Given the description of an element on the screen output the (x, y) to click on. 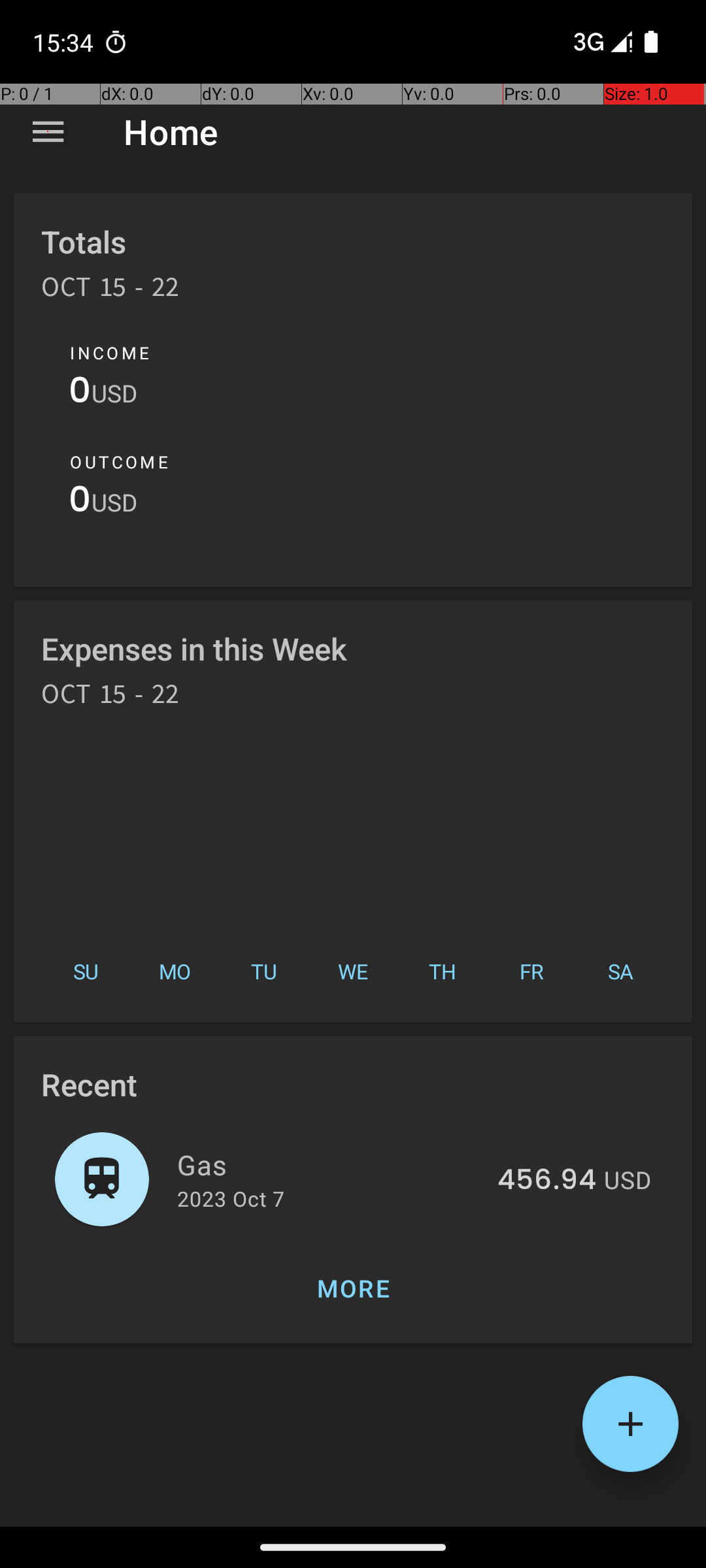
456.94 Element type: android.widget.TextView (546, 1180)
